Given the description of an element on the screen output the (x, y) to click on. 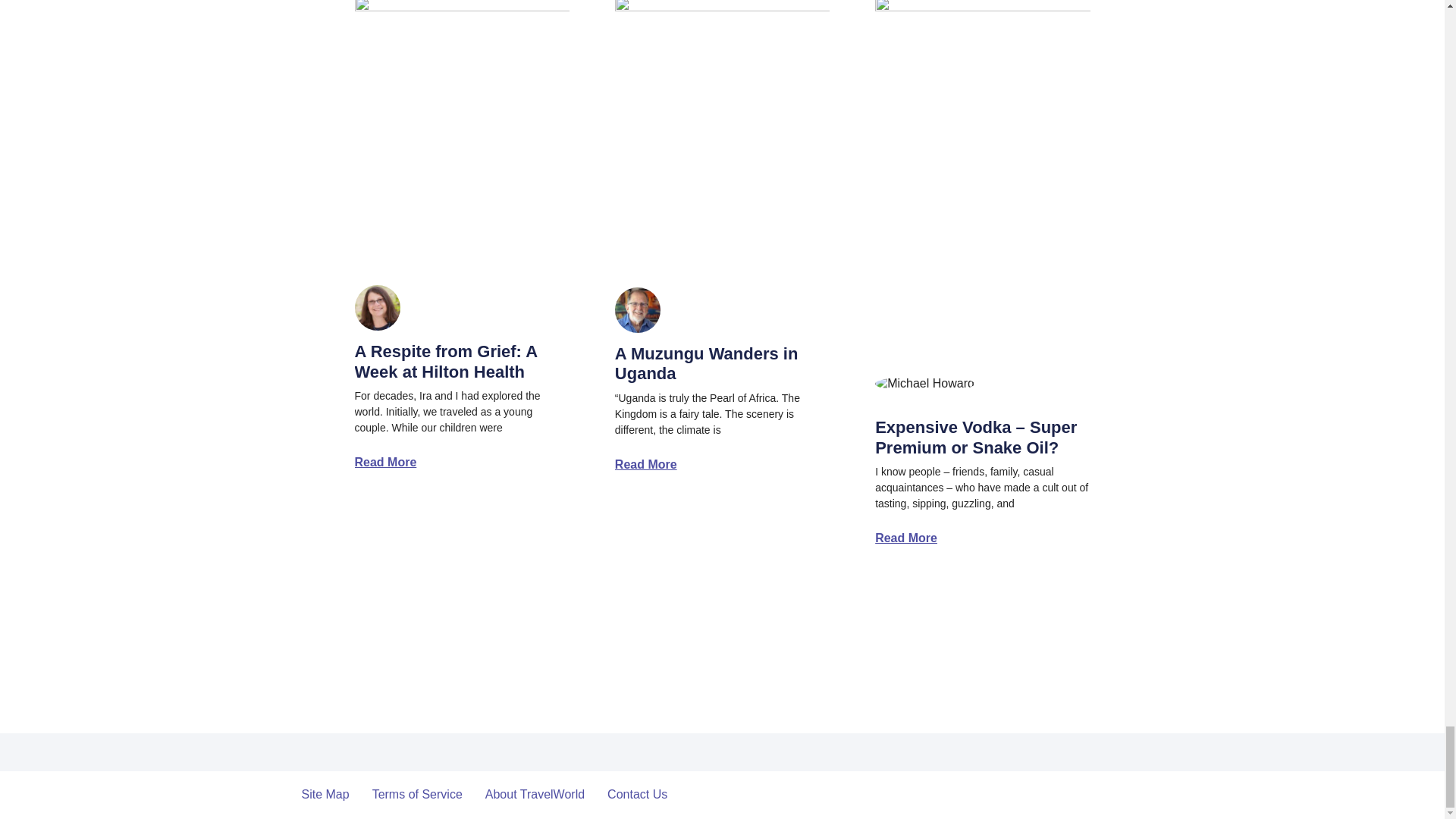
About TravelWorld (534, 794)
Read More (385, 462)
Read More (906, 538)
Contact Us (636, 794)
A Muzungu Wanders in Uganda (705, 363)
Site Map (324, 794)
Terms of Service (417, 794)
Read More (645, 464)
A Respite from Grief: A Week at Hilton Health (446, 361)
